Given the description of an element on the screen output the (x, y) to click on. 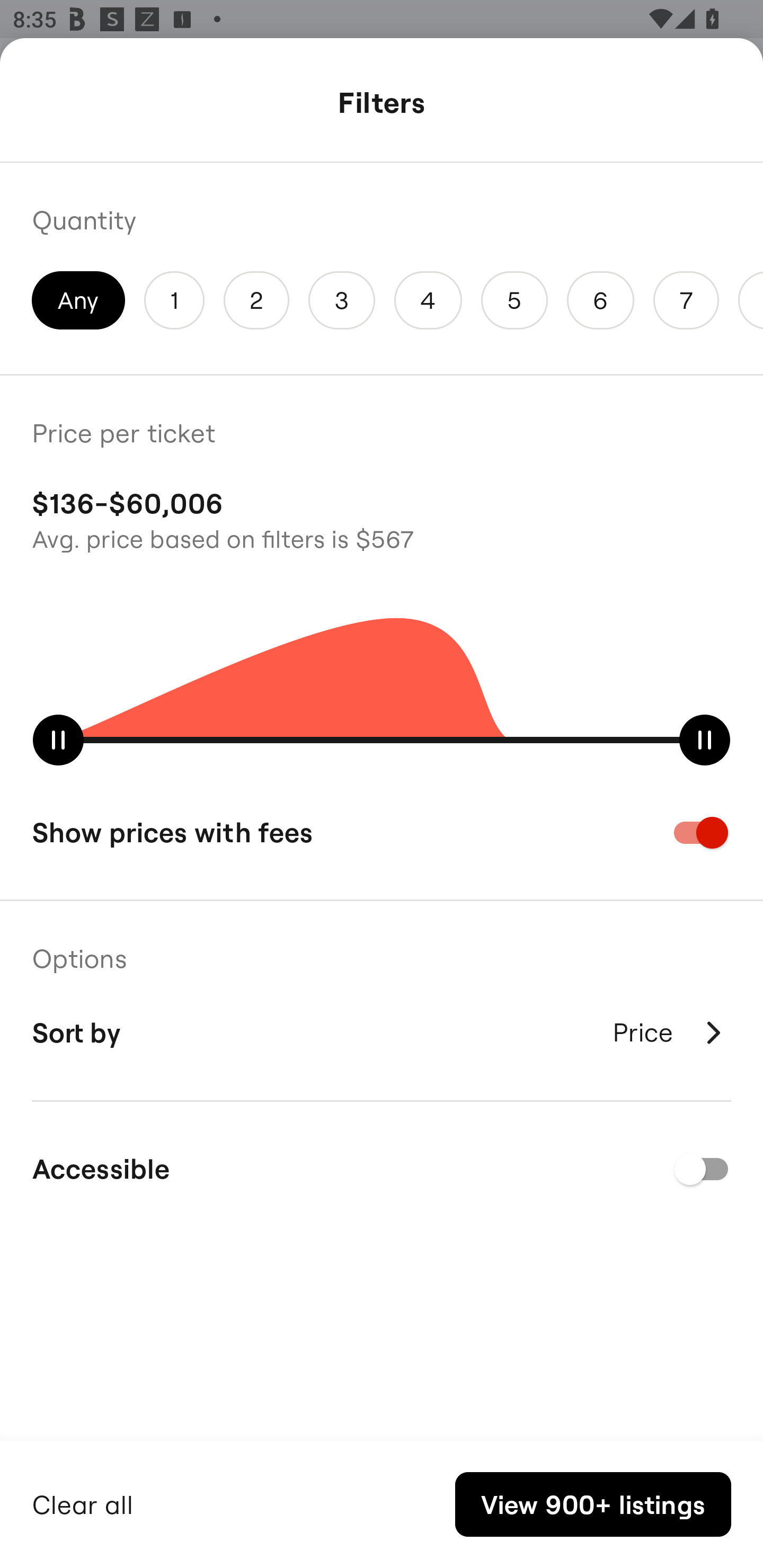
Back Magic at Knicks Fri, Mar 8, 7:30 PM Info (381, 104)
Any (78, 300)
1 (173, 300)
2 (256, 300)
3 (341, 300)
4 (427, 300)
5 (514, 300)
6 (601, 300)
7 (685, 300)
$136-$60,006 Avg. price based on filters is $567 (381, 518)
Show prices with fees (381, 832)
Sort by Price (381, 1032)
Accessible (381, 1168)
Clear all (83, 1502)
View 900+ listings (592, 1504)
